Given the description of an element on the screen output the (x, y) to click on. 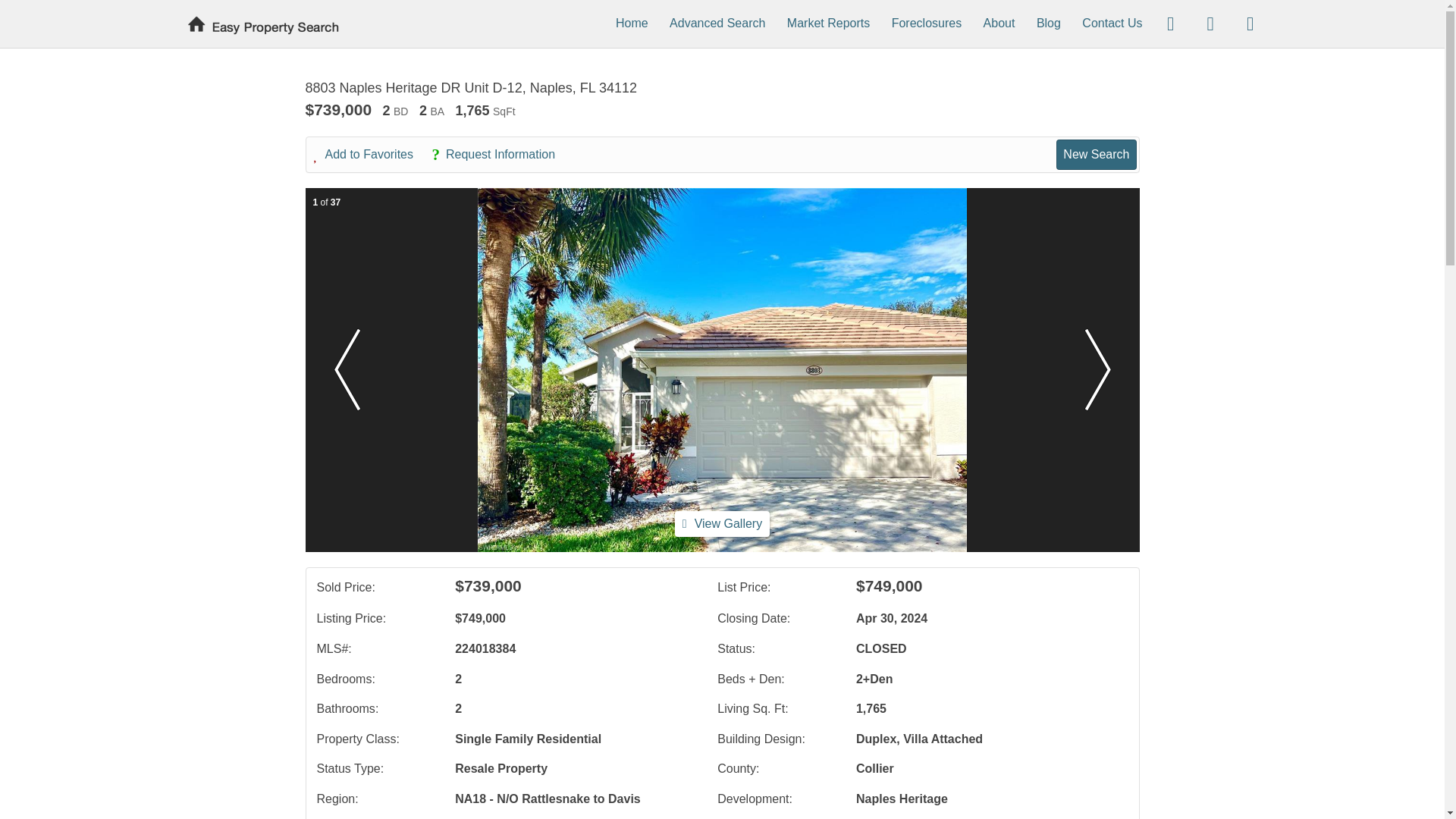
View Gallery (722, 524)
View Gallery (722, 522)
Foreclosures (925, 22)
About (999, 22)
Market Reports (828, 22)
Add to Favorites (371, 154)
Contact Us (1111, 22)
Request Information (500, 154)
Advanced Search (717, 22)
Blog (1048, 22)
